Given the description of an element on the screen output the (x, y) to click on. 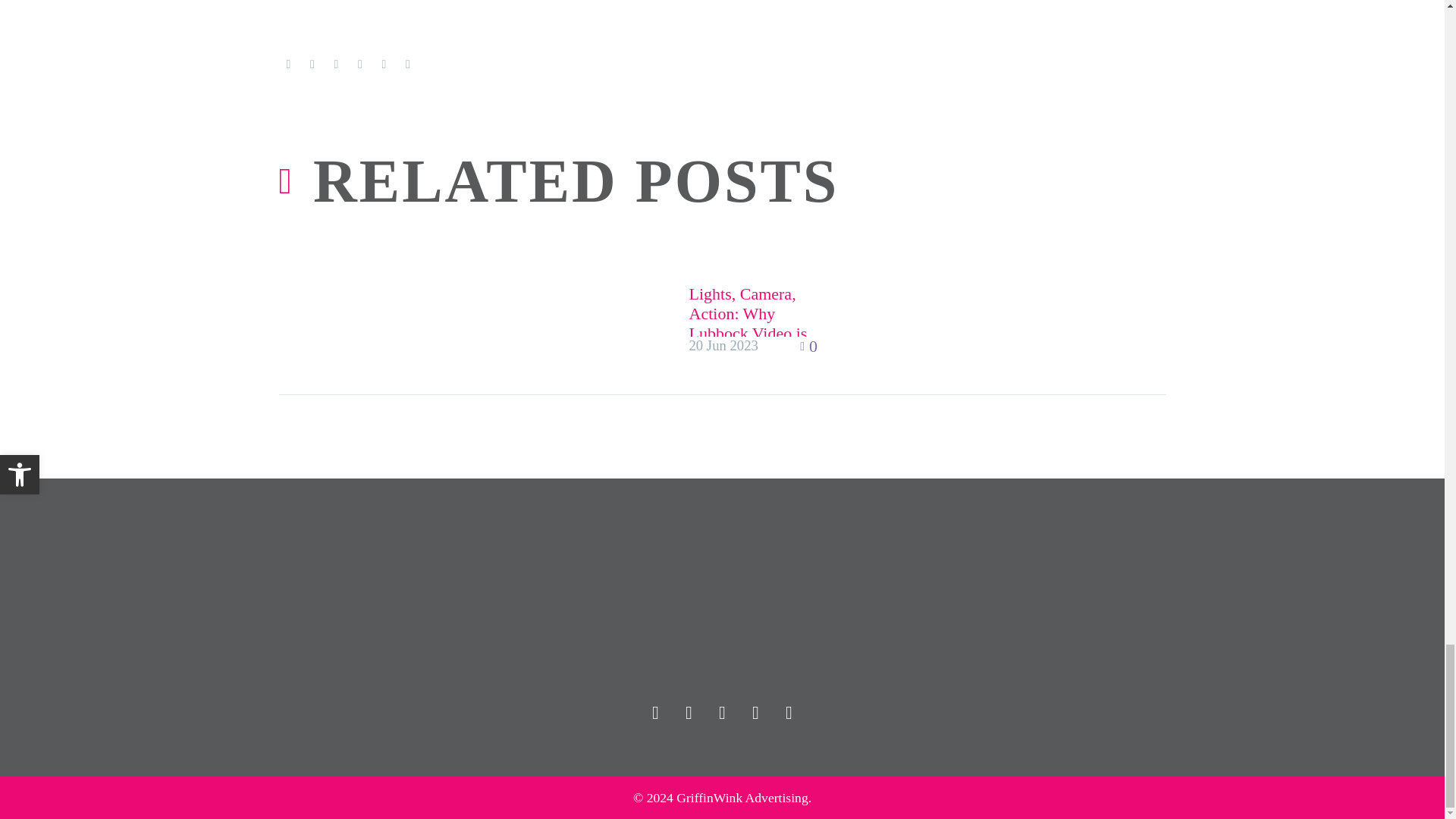
LinkedIn (383, 64)
Like this (810, 346)
Twitter (311, 64)
Reddit (407, 64)
Tumblr (359, 64)
Pinterest (336, 64)
Facebook (288, 64)
